Given the description of an element on the screen output the (x, y) to click on. 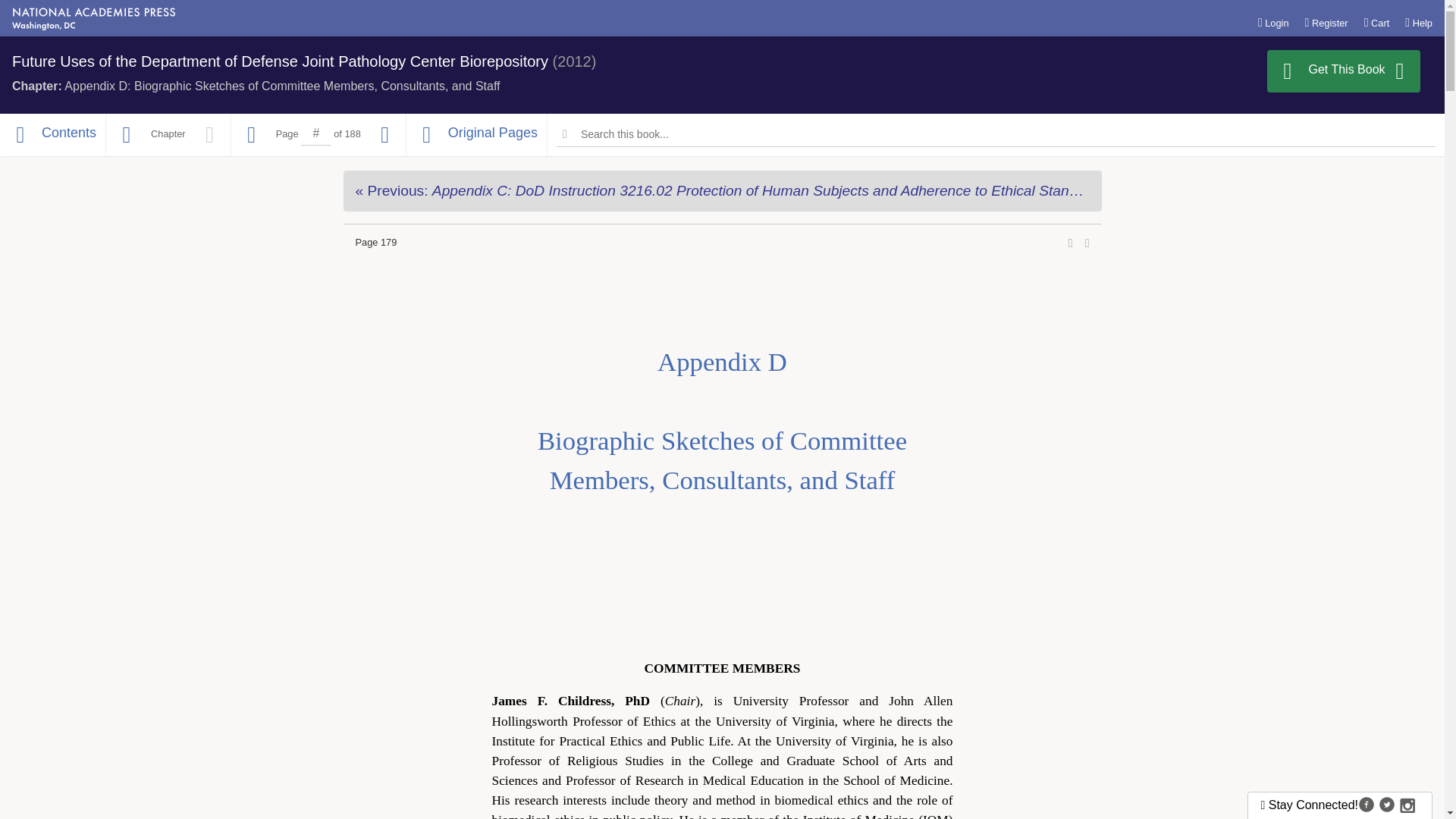
Share this page (1070, 243)
Previous Chapter (721, 190)
Cart (1377, 22)
Help (1418, 22)
Cite this page (1086, 243)
Register (1326, 22)
Login (1272, 22)
